Given the description of an element on the screen output the (x, y) to click on. 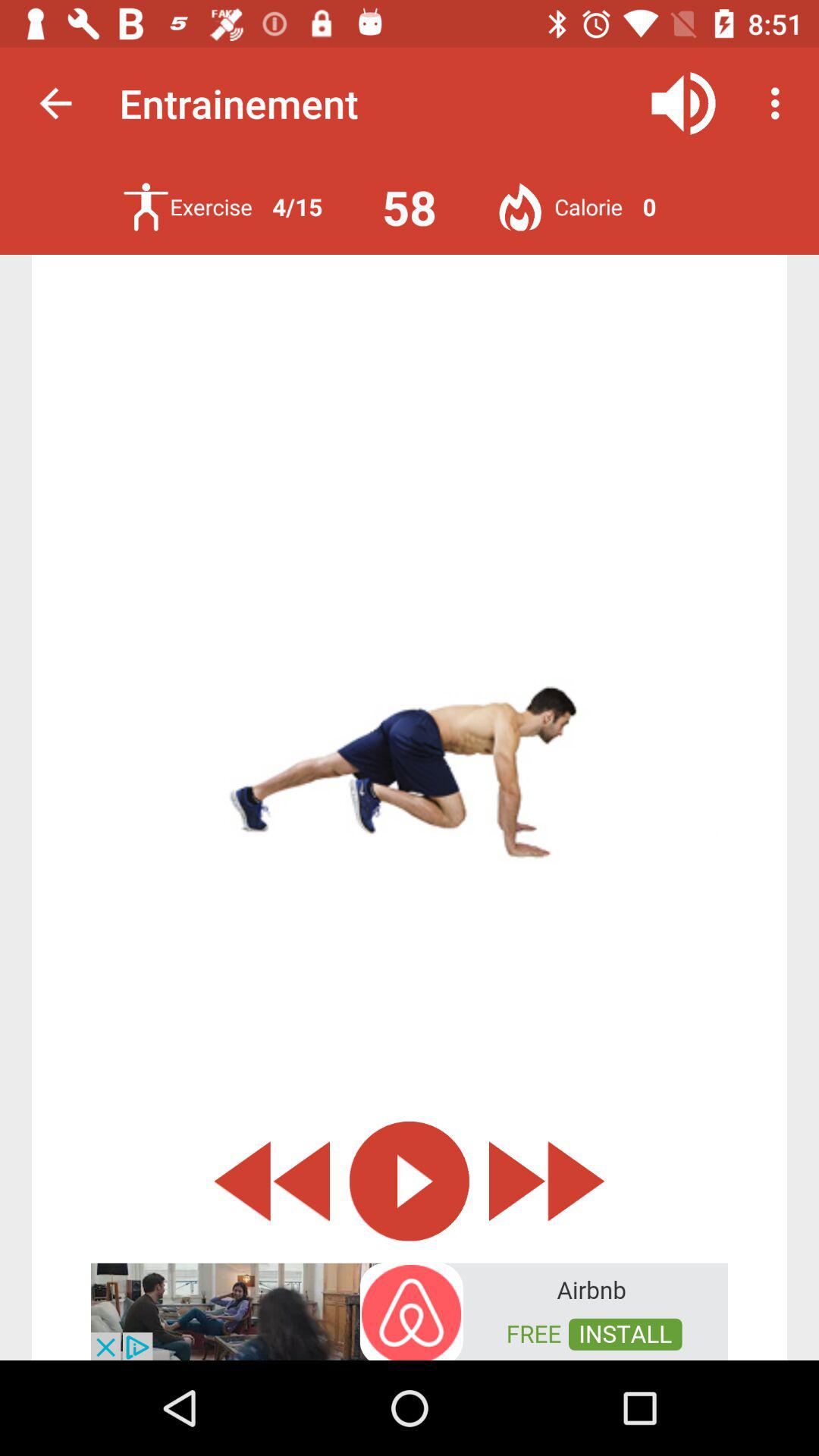
excersice page (146, 206)
